Given the description of an element on the screen output the (x, y) to click on. 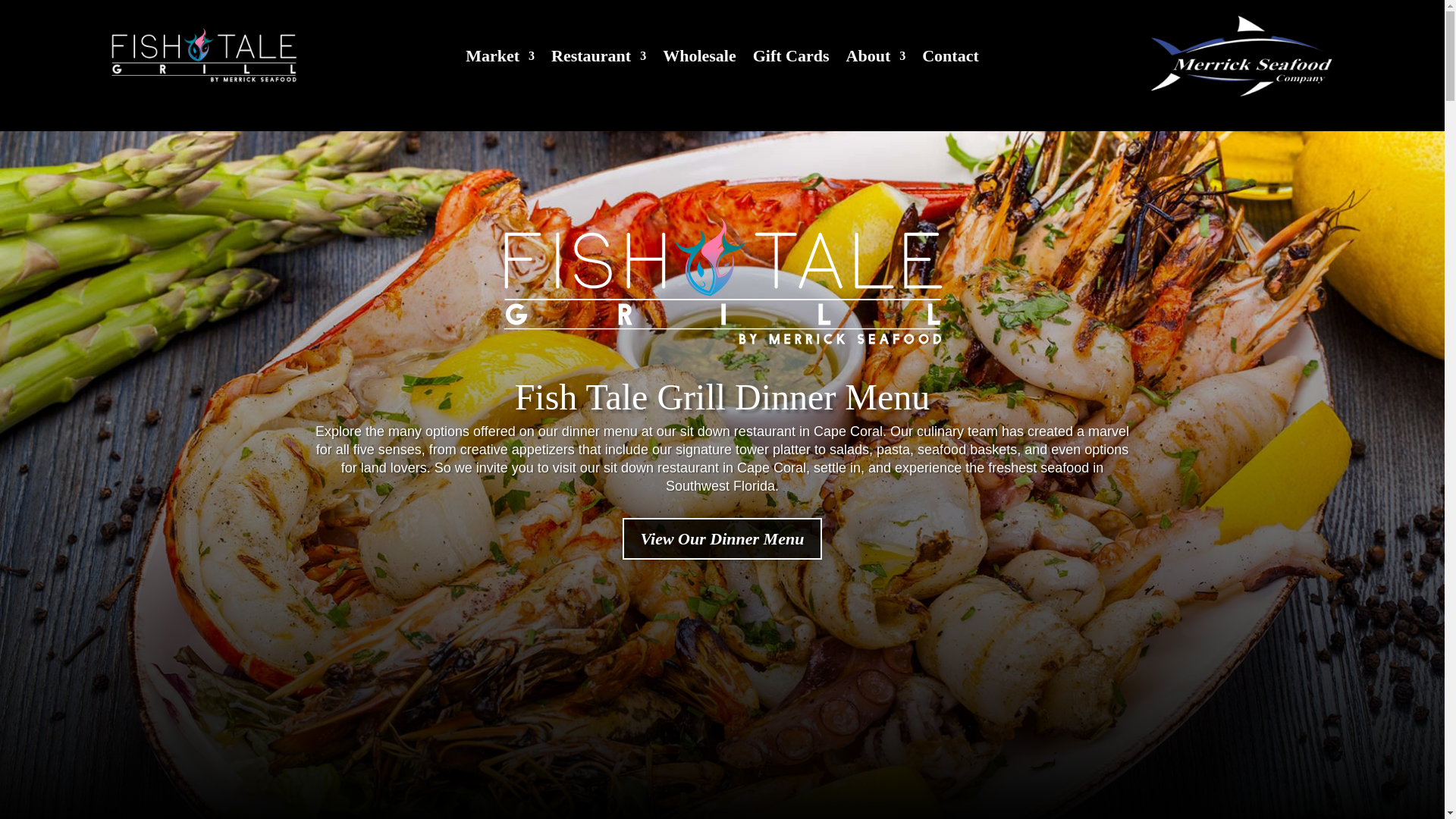
Restaurant (598, 58)
Market (499, 58)
Wholesale (699, 58)
Contact (949, 58)
About (875, 58)
Gift Cards (790, 58)
View Our Dinner Menu (722, 538)
